Given the description of an element on the screen output the (x, y) to click on. 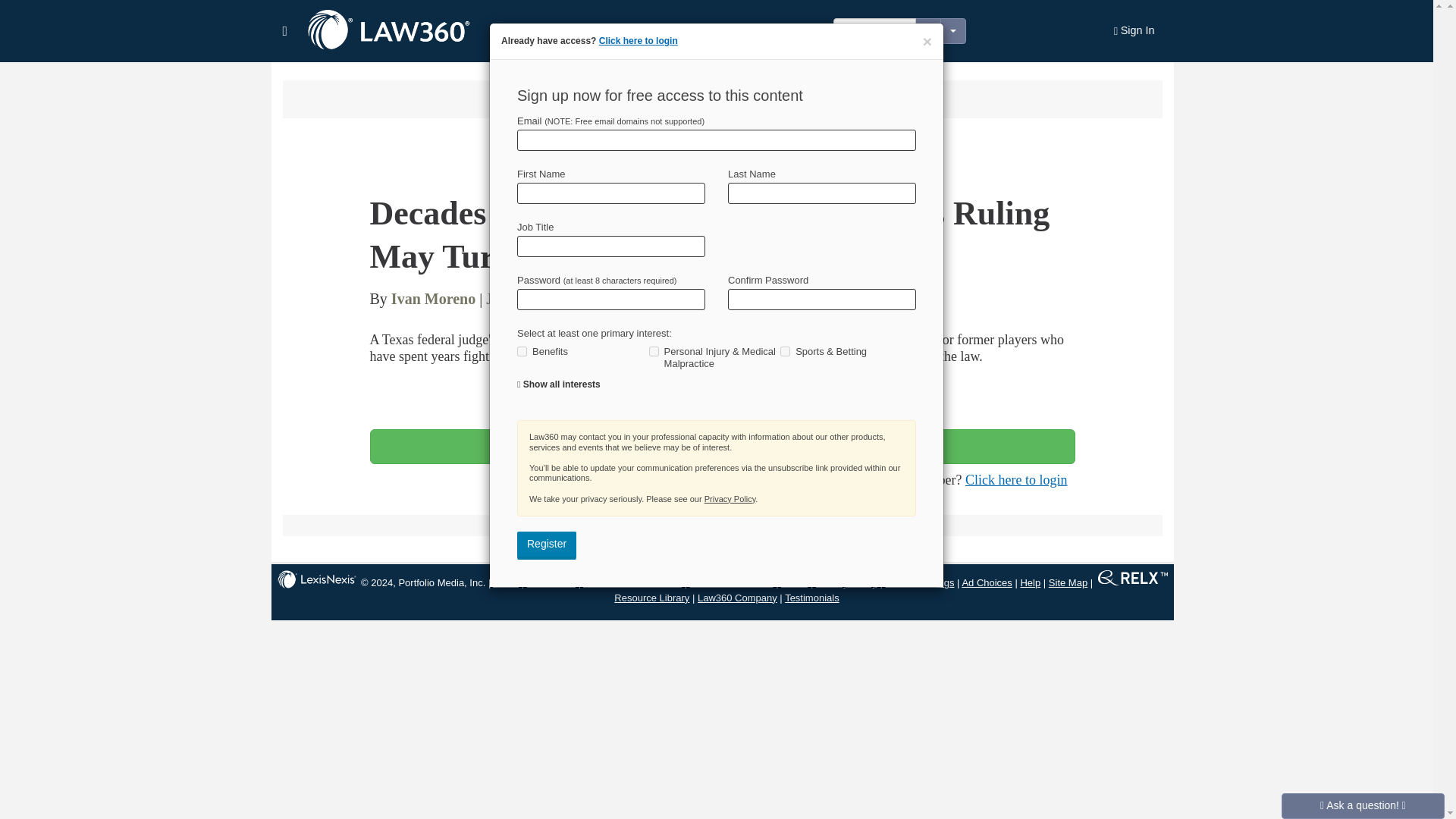
Submit (5, 2)
personal-injury-medical-malpractice (654, 351)
Toggle Dropdown (953, 31)
sports (785, 351)
benefits (521, 351)
  Sign In (1133, 31)
